Given the description of an element on the screen output the (x, y) to click on. 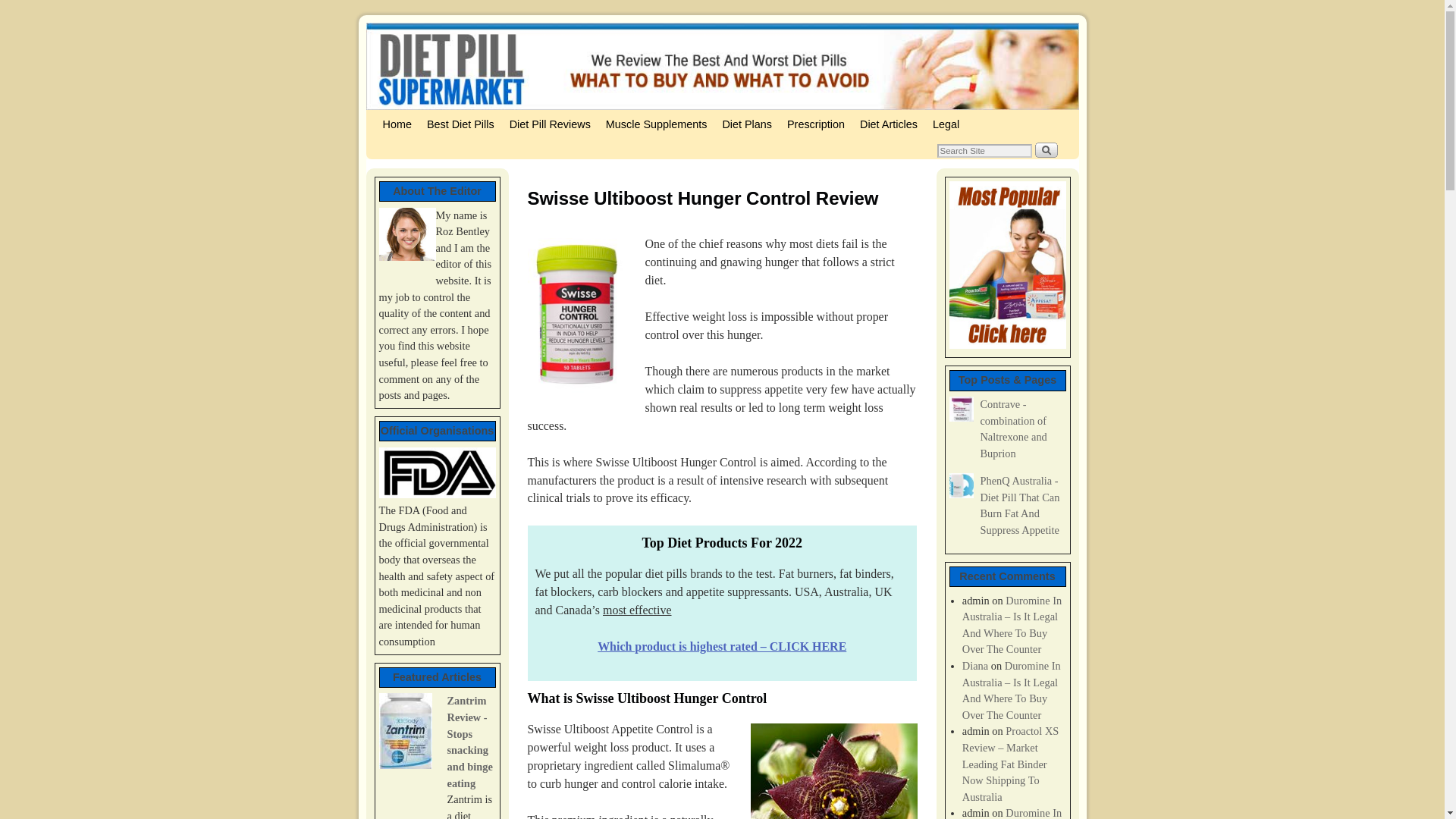
Legal (945, 123)
Diet Pill Supermarket (721, 65)
Home (396, 123)
Best Diet Pills (460, 123)
Diet Articles (887, 123)
Diet Plans (746, 123)
Diet Pill Reviews (550, 123)
Zantrim Review - Stops snacking and binge eating (469, 741)
Zantrim Review - Stops snacking and binge eating (469, 741)
Zantrim Review - Stops snacking and binge eating (405, 732)
Skip to primary content (408, 116)
Skip to secondary content (412, 116)
Prescription (814, 123)
Muscle Supplements (656, 123)
